Given the description of an element on the screen output the (x, y) to click on. 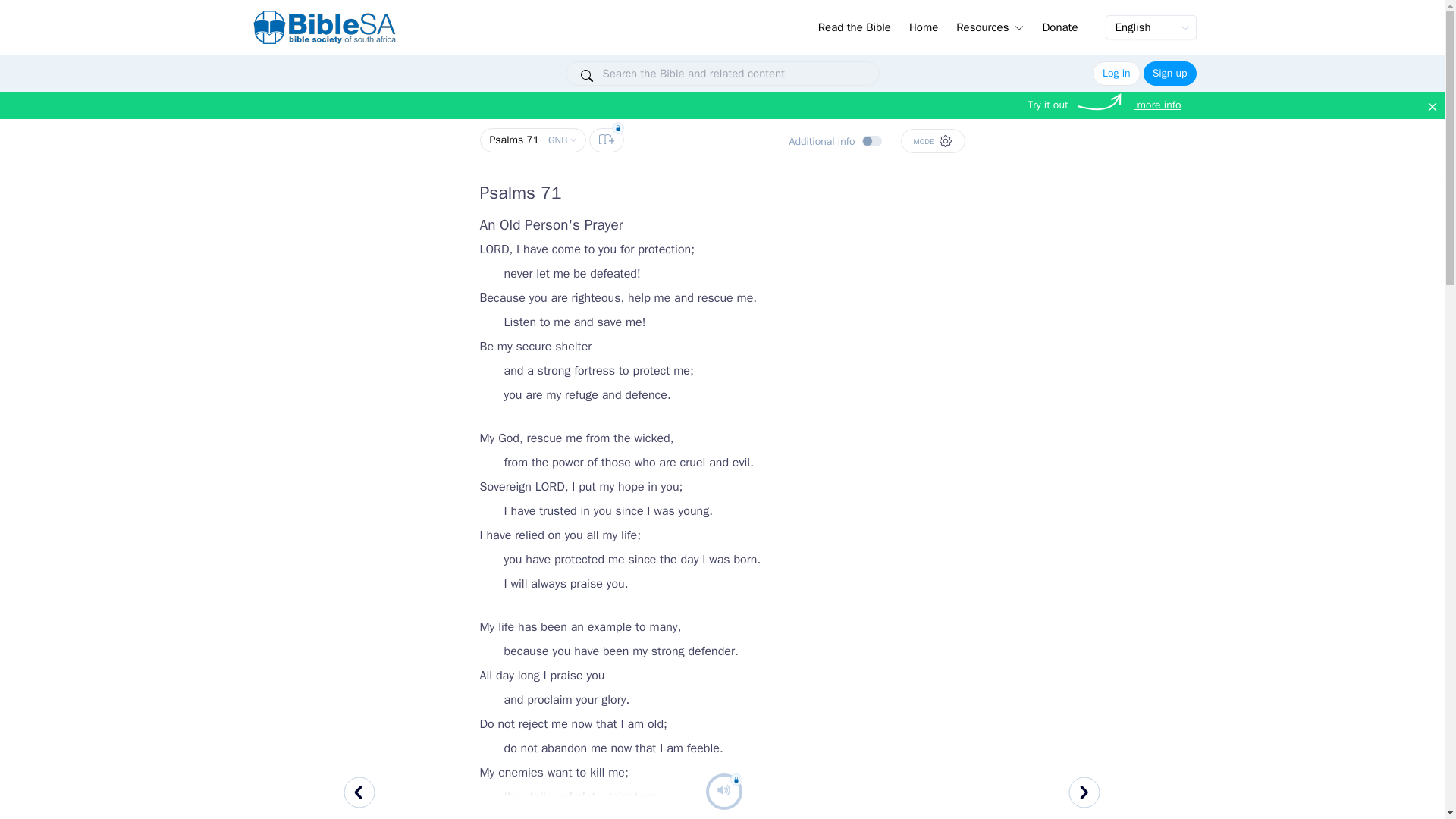
more info (1157, 104)
Resources (989, 25)
Resources (989, 25)
English (1150, 27)
Home (923, 25)
Log in (1116, 73)
Right (1085, 794)
Read the Bible (854, 25)
previous (360, 794)
Sign up (1169, 73)
English (1150, 27)
Resources (989, 24)
Donate (1059, 25)
Read the Bible (532, 139)
